Given the description of an element on the screen output the (x, y) to click on. 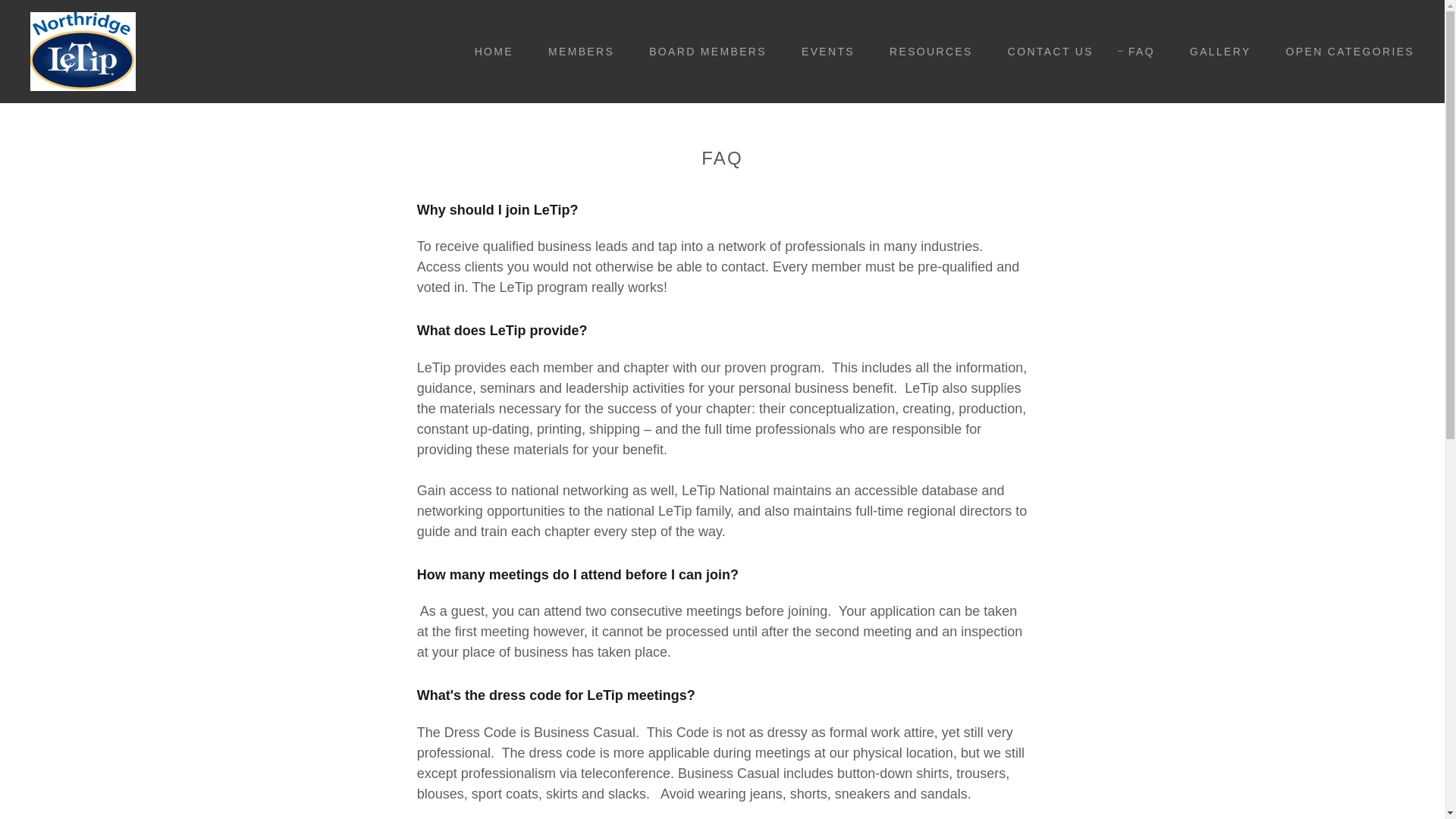
BOARD MEMBERS (702, 51)
GALLERY (1214, 51)
CONTACT US (1044, 51)
Letipofnorthridge (82, 50)
EVENTS (822, 51)
FAQ (1136, 51)
MEMBERS (575, 51)
RESOURCES (925, 51)
HOME (489, 51)
OPEN CATEGORIES (1344, 51)
